Given the description of an element on the screen output the (x, y) to click on. 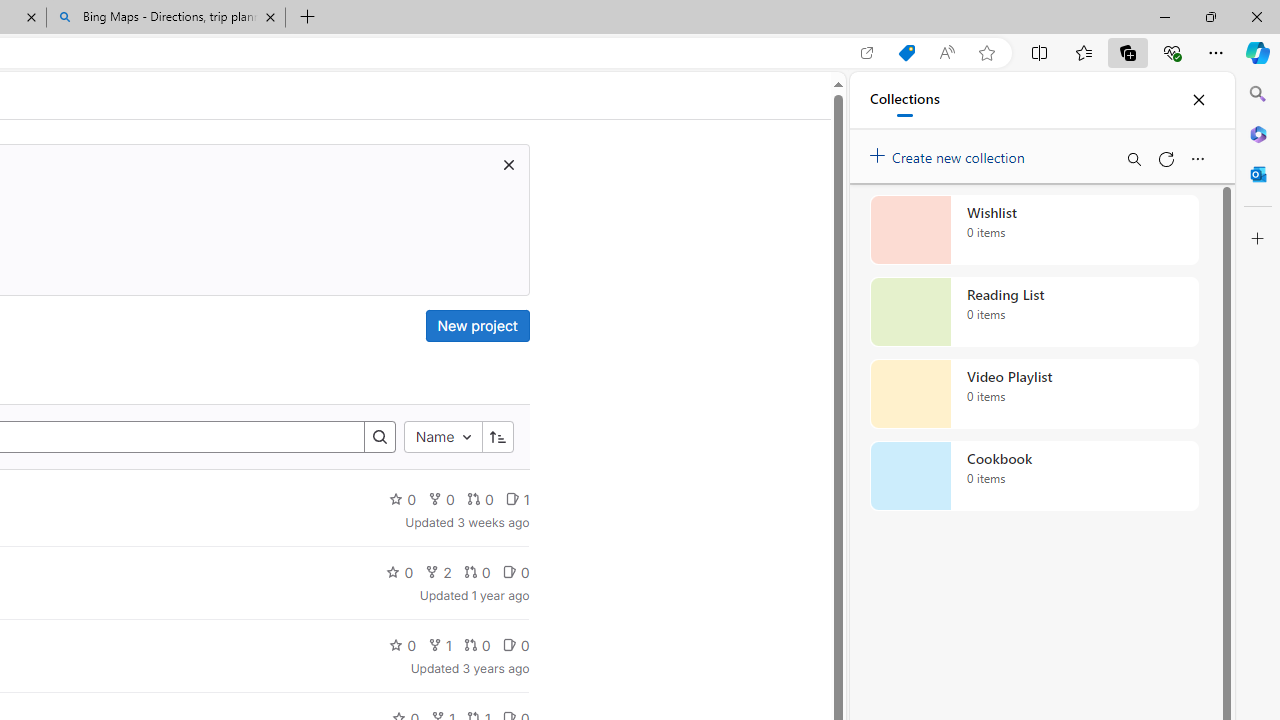
New project (476, 326)
2 (437, 571)
Dismiss trial promotion (508, 164)
Open in app (867, 53)
Reading List collection, 0 items (1034, 312)
